Given the description of an element on the screen output the (x, y) to click on. 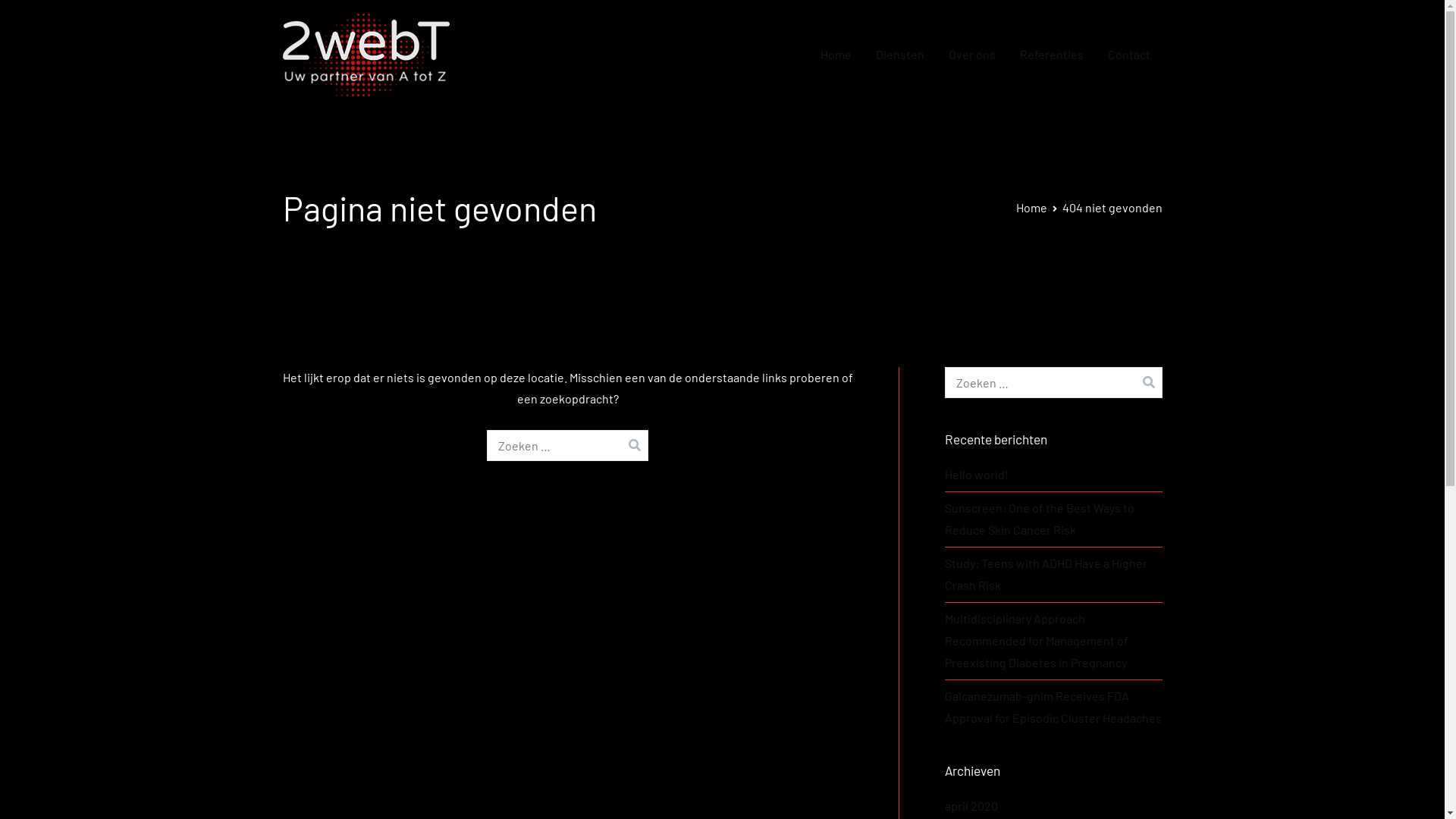
Home Element type: text (1031, 207)
Home Element type: text (835, 54)
Referenties Element type: text (1050, 54)
Contact Element type: text (1128, 54)
Over ons Element type: text (970, 54)
2WebT Element type: text (487, 65)
Sunscreen: One of the Best Ways to Reduce Skin Cancer Risk Element type: text (1053, 519)
Zoeken Element type: text (31, 14)
Study: Teens with ADHD Have a Higher Crash Risk Element type: text (1053, 574)
Hello world! Element type: text (976, 474)
Diensten Element type: text (899, 54)
